Given the description of an element on the screen output the (x, y) to click on. 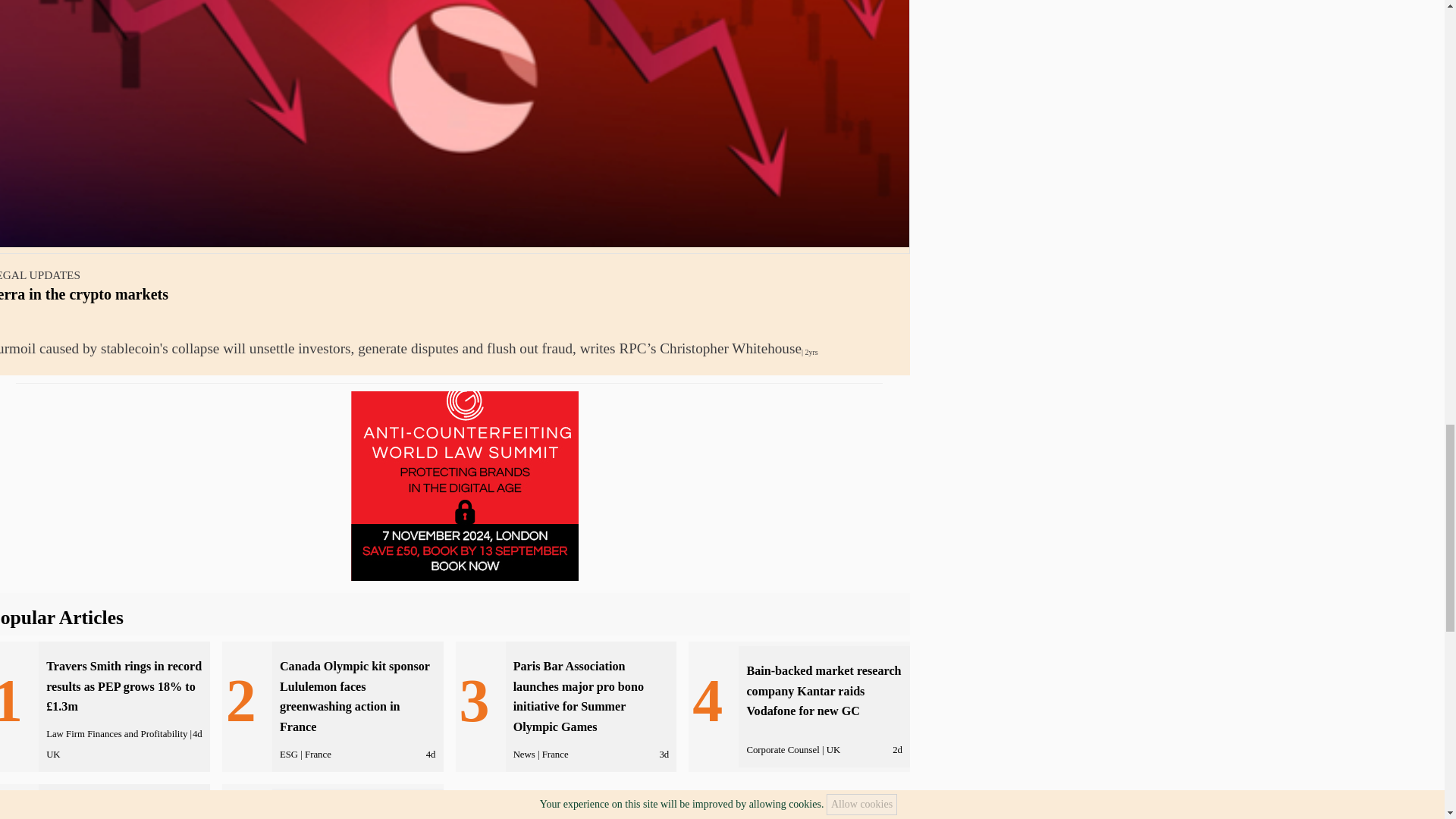
ESG (288, 754)
UK (52, 754)
Terra in the crypto markets (84, 293)
Law Firm Finances and Profitability (116, 733)
France (317, 754)
